Given the description of an element on the screen output the (x, y) to click on. 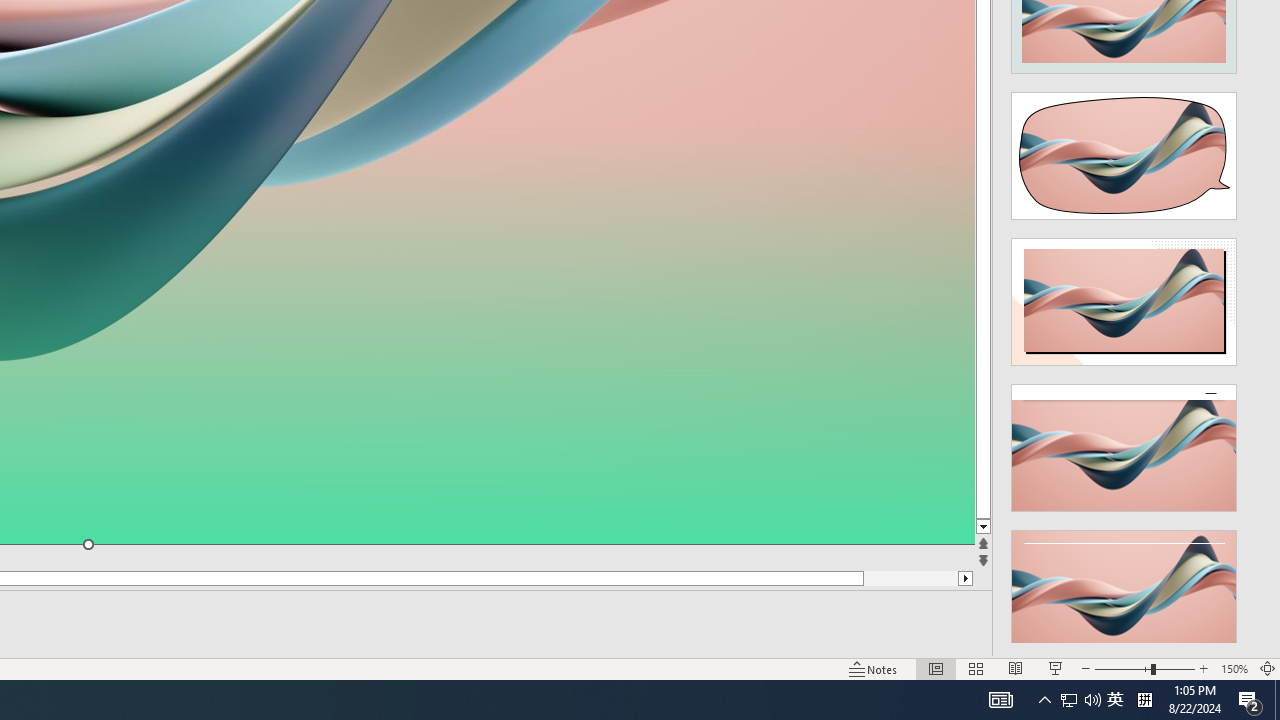
Zoom 150% (1234, 668)
